Given the description of an element on the screen output the (x, y) to click on. 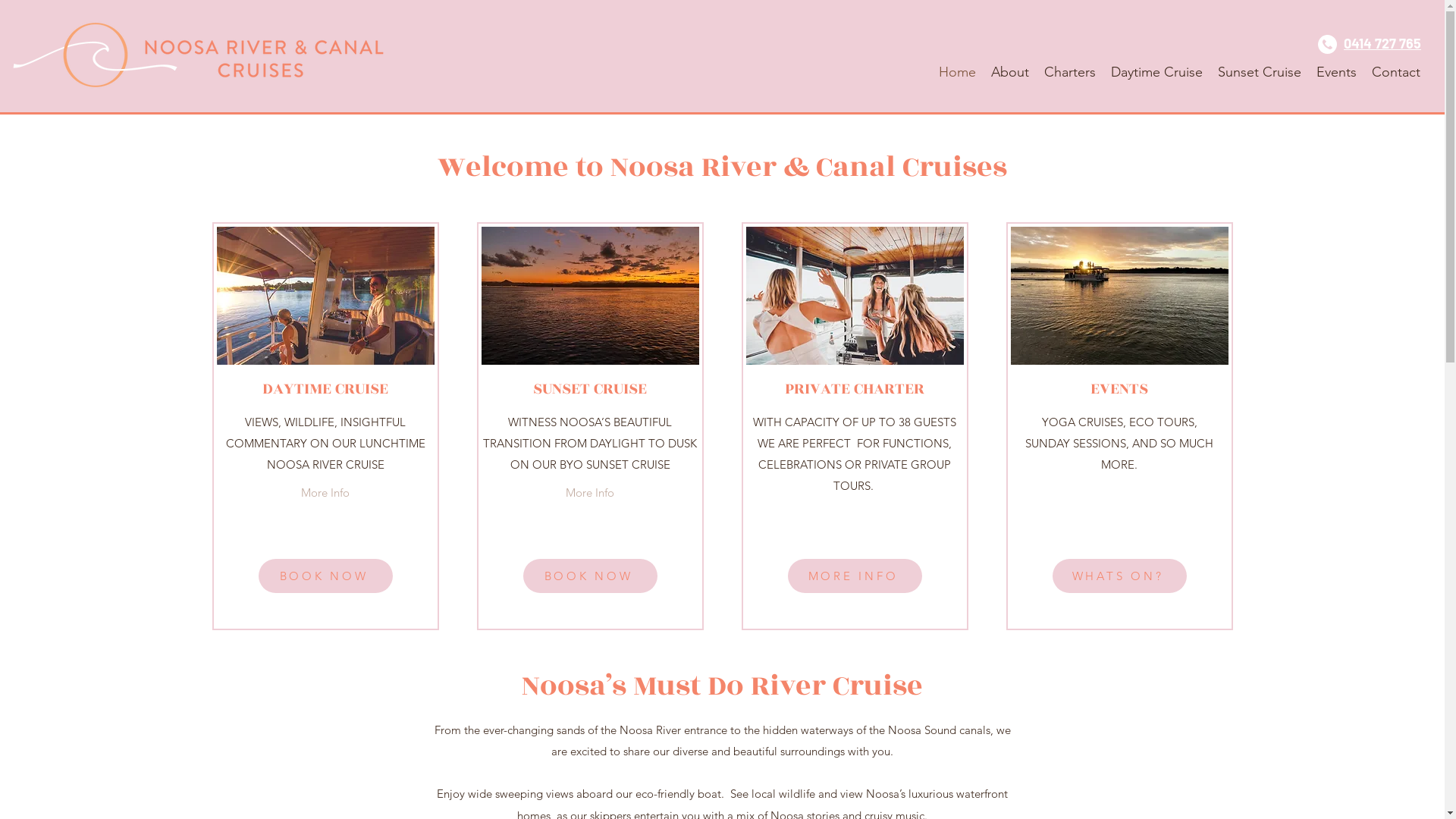
NRCC Low Res-66.jpg Element type: hover (325, 295)
dji_fly_20230806_171322_976_1691307031626_photo.JPG Element type: hover (1118, 295)
Daytime Cruise Element type: text (1156, 70)
0414 727 765 Element type: text (1382, 43)
BOOK NOW Element type: text (590, 575)
WHATS ON? Element type: text (1119, 575)
Home Element type: text (957, 70)
Events Element type: text (1336, 70)
IMG_6535.JPG Element type: hover (854, 295)
Contact Element type: text (1395, 70)
Sunset Cruise Element type: text (1259, 70)
MORE INFO Element type: text (854, 575)
About Element type: text (1009, 70)
71023515646__70423150-EE44-455D-ACA9-706D9D249647.jpeg Element type: hover (589, 295)
More Info Element type: text (325, 492)
BOOK NOW Element type: text (324, 575)
More Info Element type: text (588, 492)
